Given the description of an element on the screen output the (x, y) to click on. 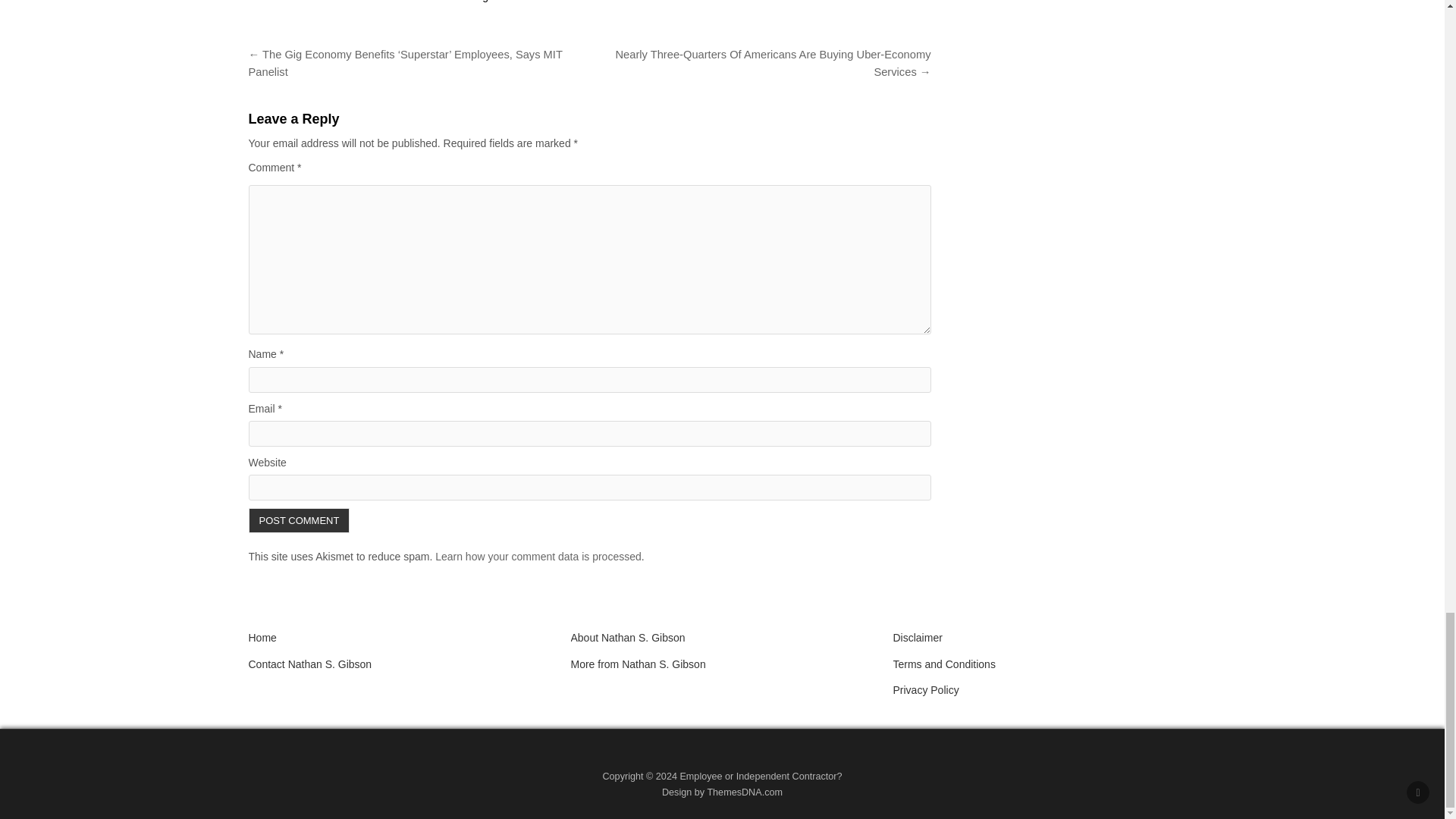
Post Comment (299, 520)
Post Comment (299, 520)
Learn how your comment data is processed (538, 556)
